Given the description of an element on the screen output the (x, y) to click on. 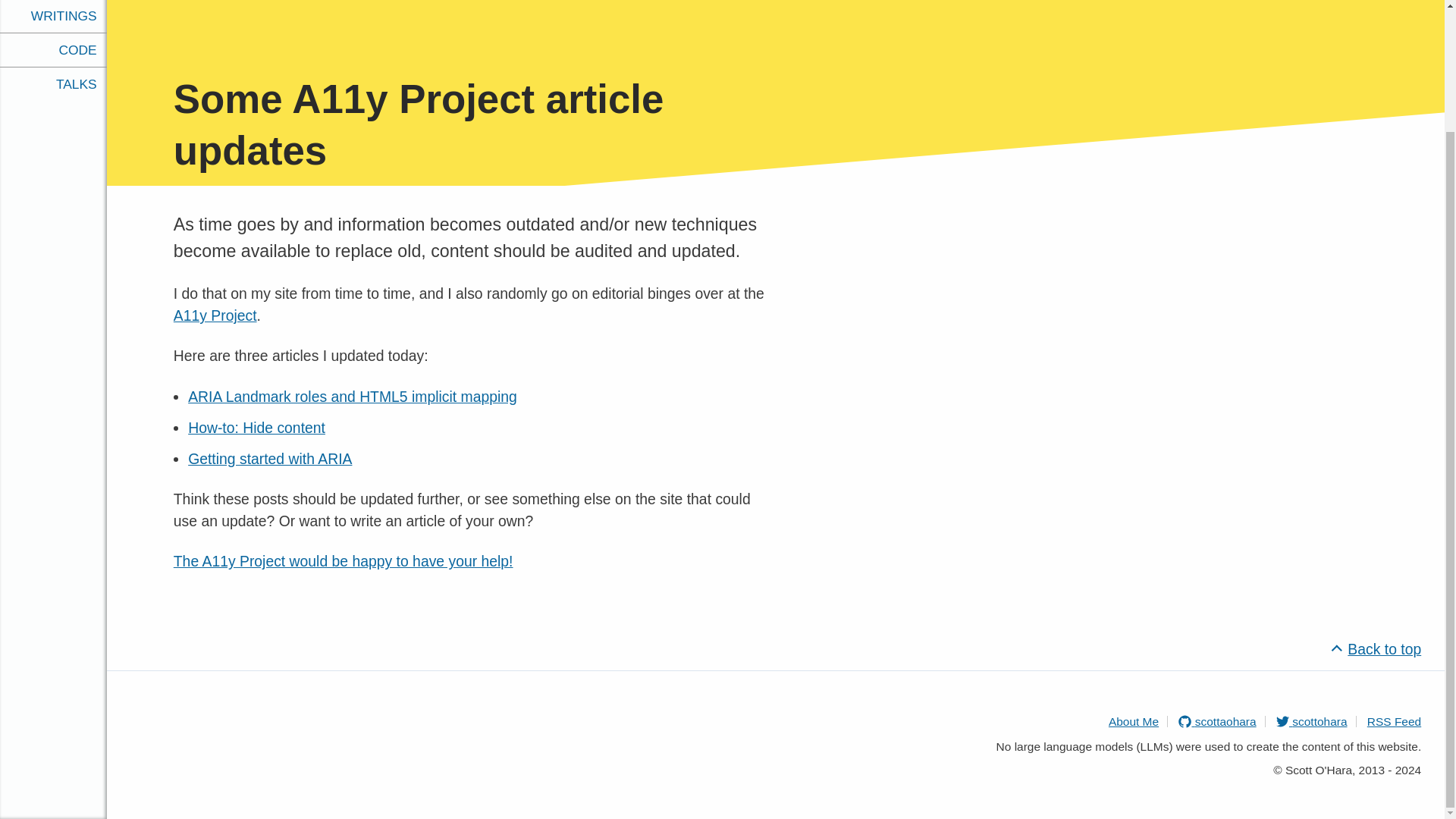
Back to top (1377, 649)
CODE (53, 0)
RSS Feed (1394, 721)
A11y Project (215, 315)
scottohara (1312, 721)
scottaohara (1216, 721)
TALKS (53, 18)
Getting started with ARIA (269, 458)
The A11y Project would be happy to have your help! (343, 560)
ARIA Landmark roles and HTML5 implicit mapping (351, 396)
